Given the description of an element on the screen output the (x, y) to click on. 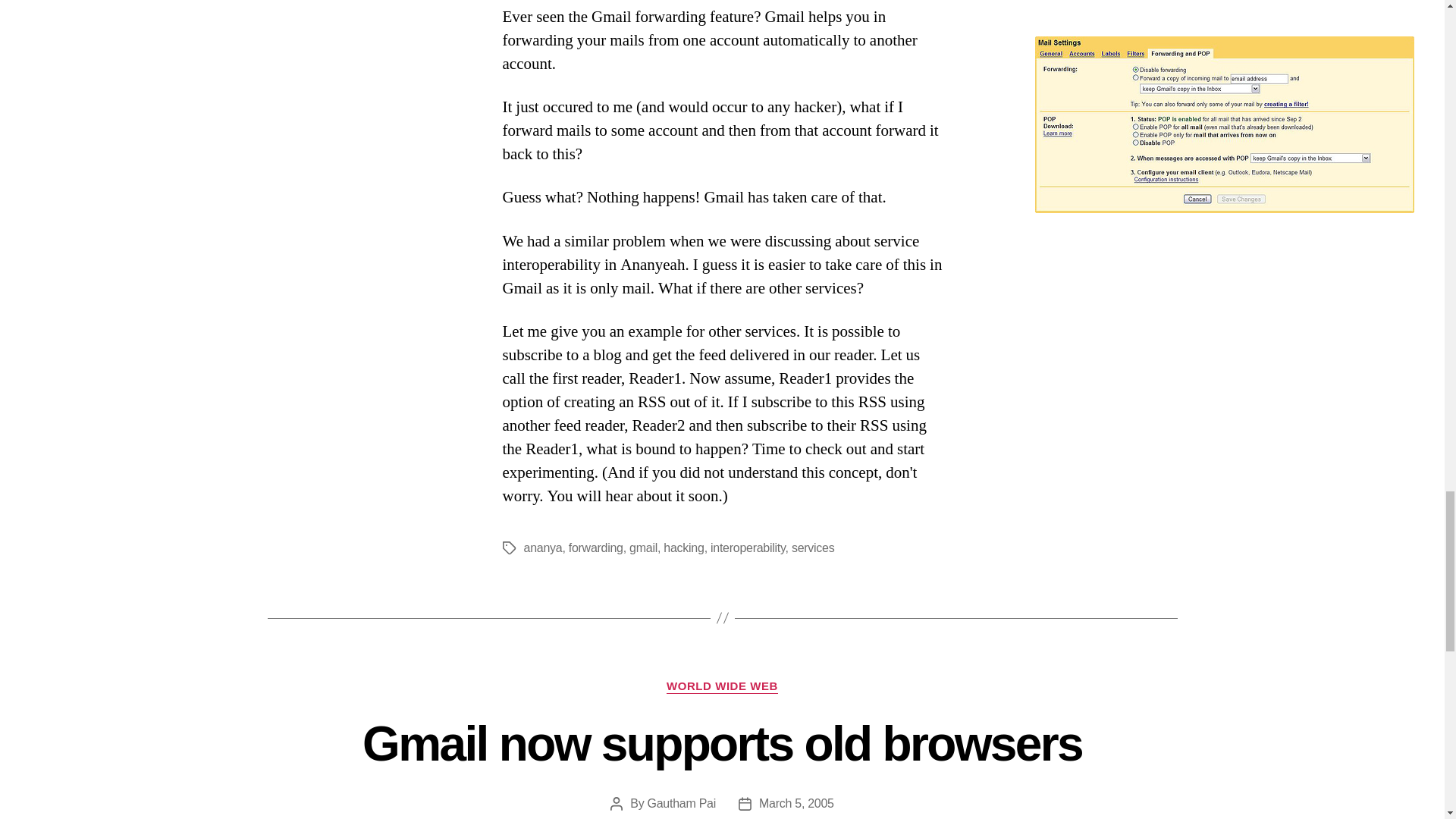
Gmail Forwarding (1224, 124)
